Given the description of an element on the screen output the (x, y) to click on. 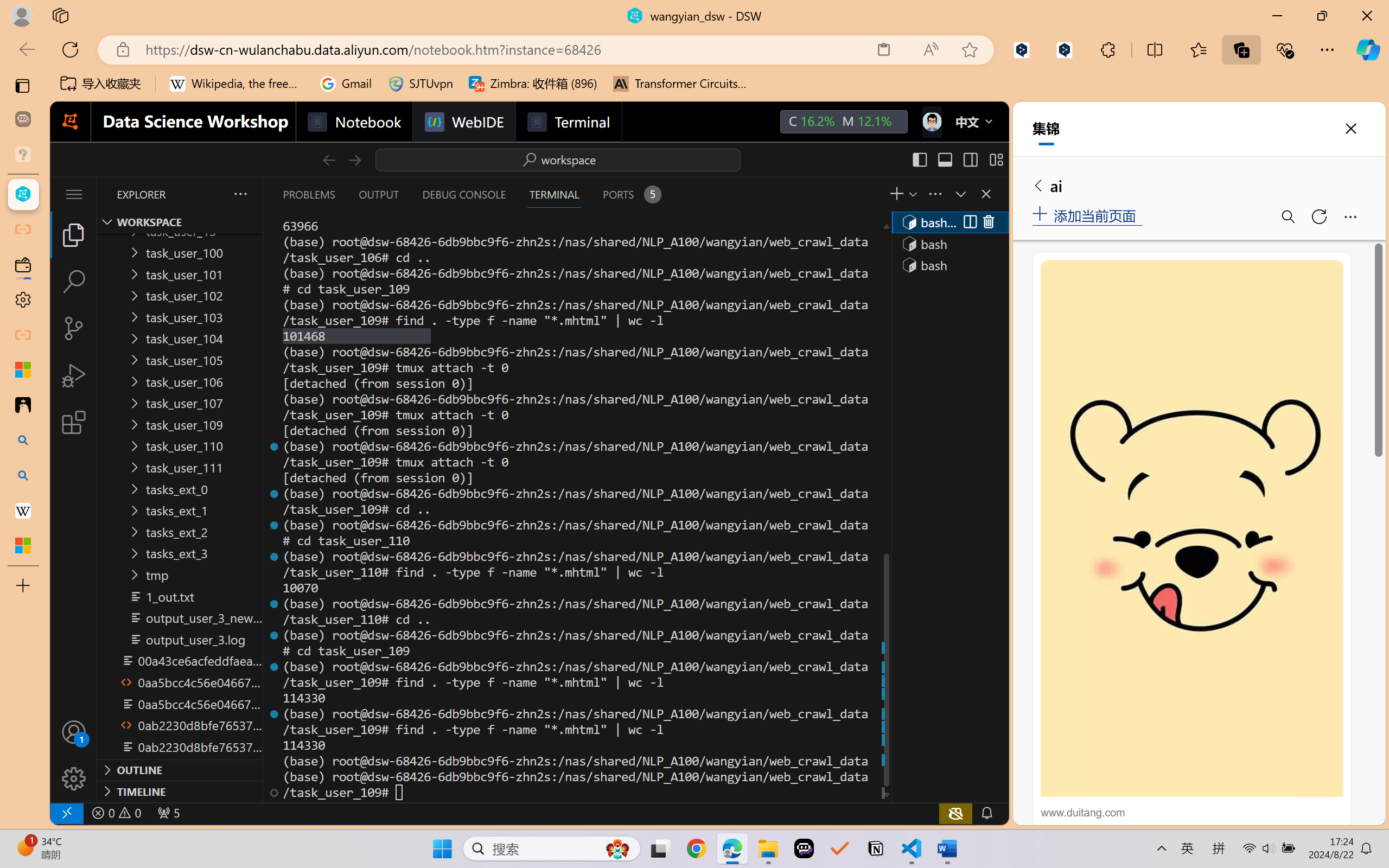
Copilot (Ctrl+Shift+.) (1368, 49)
icon (930, 119)
WebIDE (463, 121)
Terminal 3 bash (949, 264)
Gmail (345, 83)
Go Forward (Alt+RightArrow) (354, 159)
Transformer Circuits Thread (680, 83)
copilot-notconnected, Copilot error (click for details) (955, 812)
Run and Debug (Ctrl+Shift+D) (73, 375)
Toggle Secondary Side Bar (Ctrl+Alt+B) (969, 159)
